Given the description of an element on the screen output the (x, y) to click on. 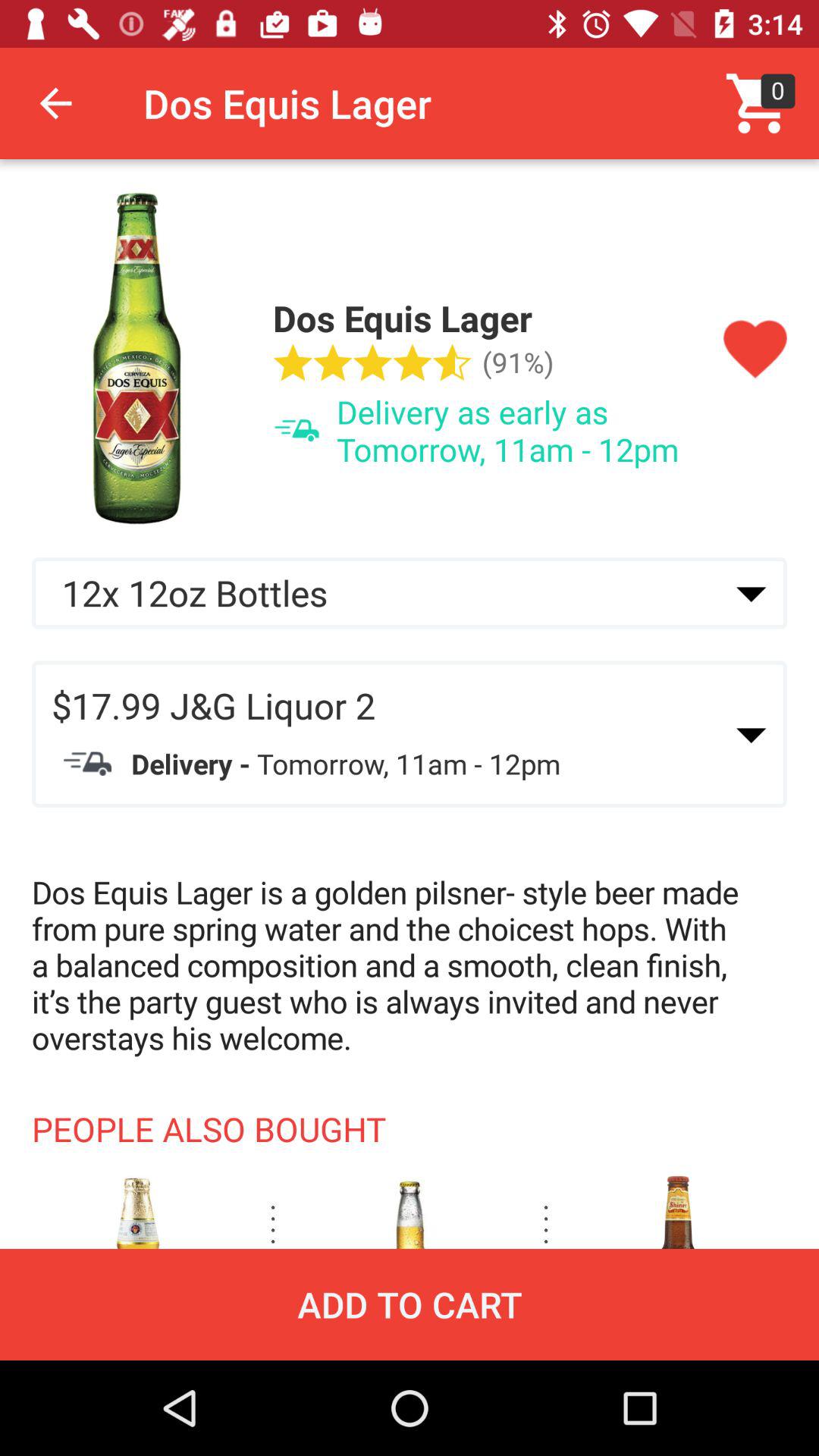
like this item (755, 350)
